Given the description of an element on the screen output the (x, y) to click on. 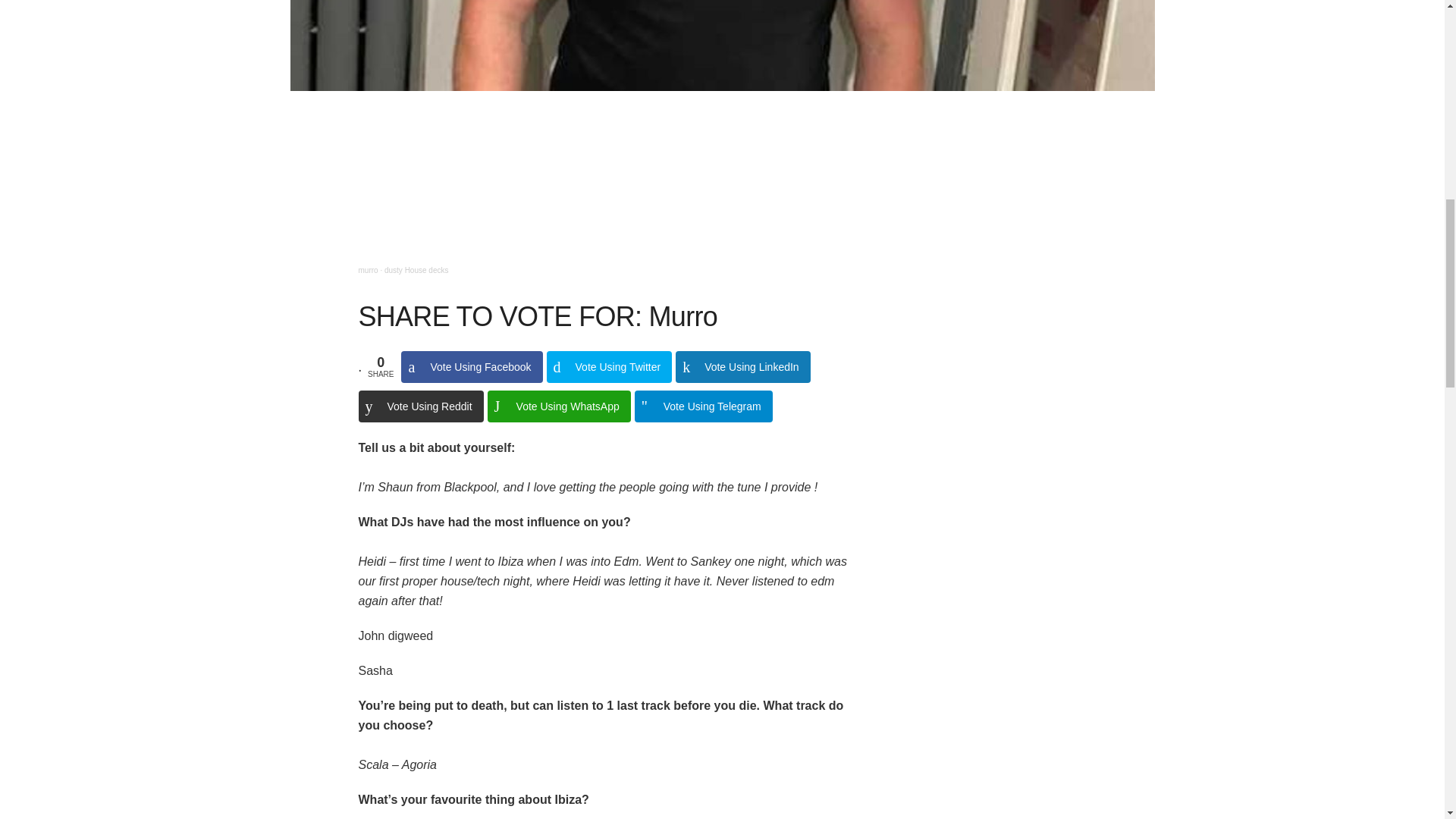
dusty House decks (416, 270)
Share on Vote Using WhatsApp (558, 406)
Share on Vote Using Reddit (420, 406)
Share on Vote Using Telegram (703, 406)
murro (367, 270)
Share on Vote Using Facebook (471, 367)
Share on Vote Using Twitter (609, 367)
Share on Vote Using LinkedIn (742, 367)
